Given the description of an element on the screen output the (x, y) to click on. 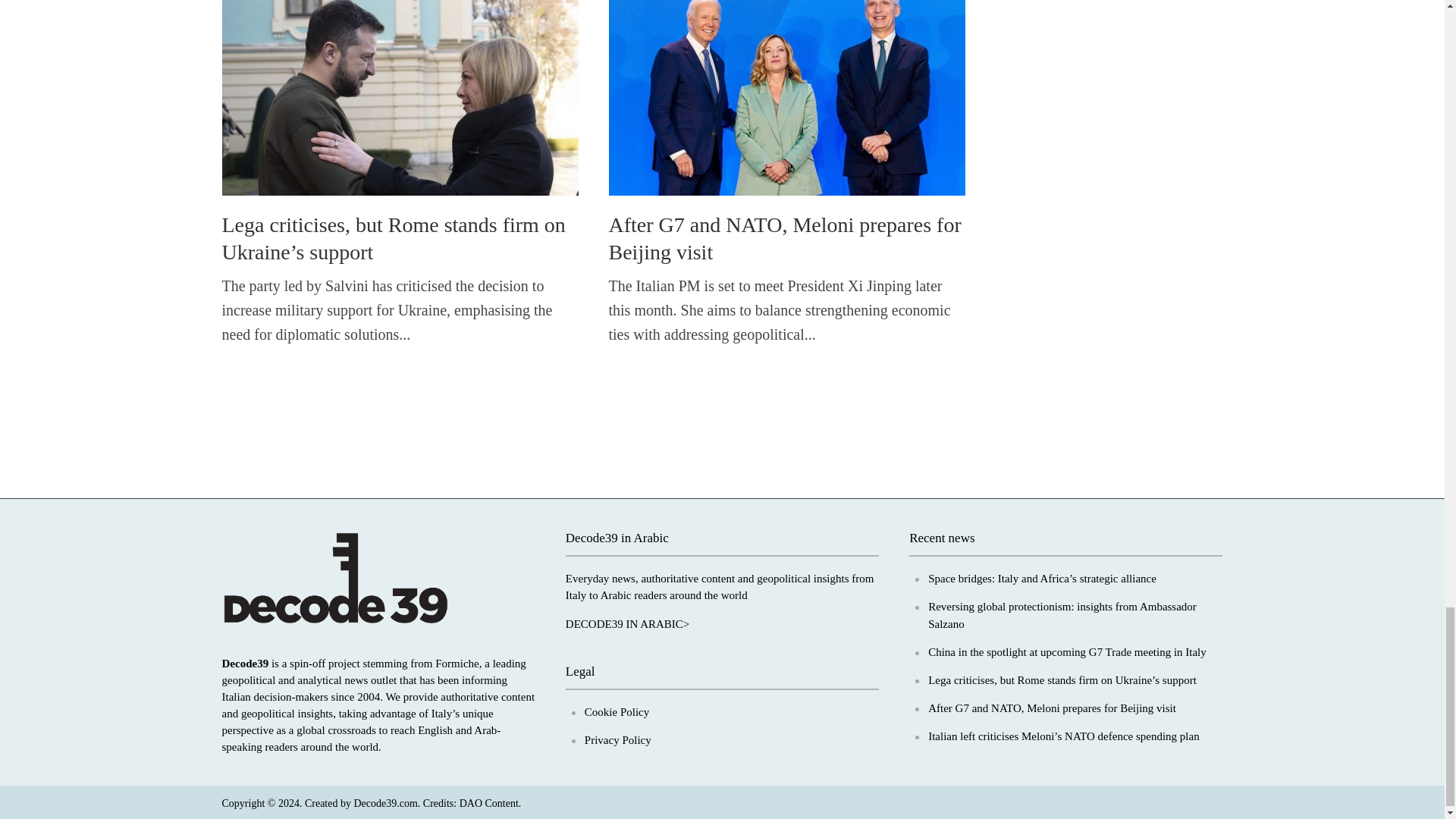
After G7 and NATO, Meloni prepares for Beijing visit (785, 93)
